Given the description of an element on the screen output the (x, y) to click on. 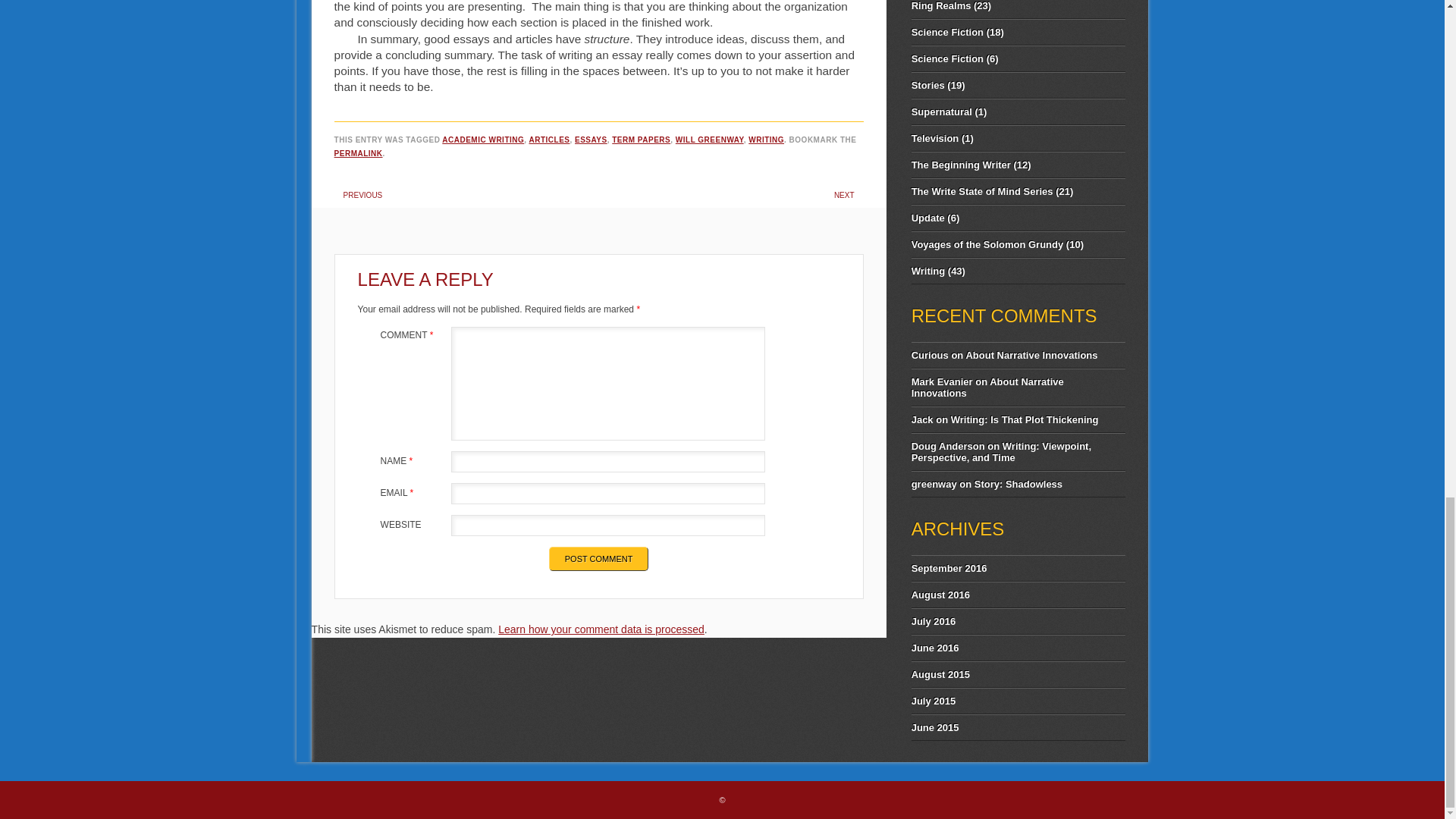
Post Comment (598, 558)
TERM PAPERS (640, 139)
Post Comment (598, 558)
NEXT (844, 194)
Learn how your comment data is processed (600, 629)
ESSAYS (591, 139)
PERMALINK (358, 153)
ARTICLES (548, 139)
PREVIOUS (362, 194)
WILL GREENWAY (709, 139)
WRITING (766, 139)
ACADEMIC WRITING (483, 139)
